Given the description of an element on the screen output the (x, y) to click on. 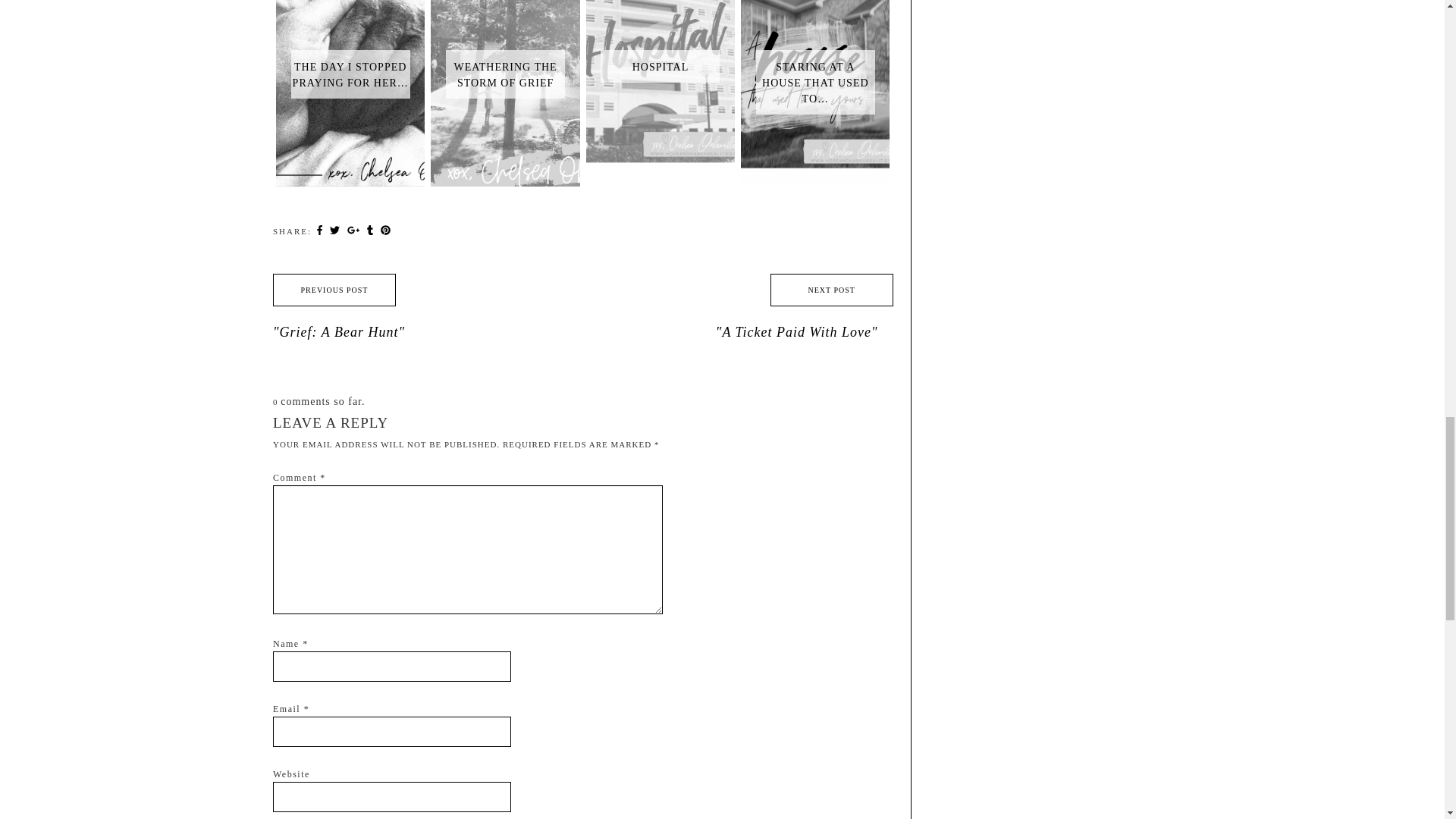
WEATHERING THE STORM OF GRIEF (504, 3)
comments so far. (323, 401)
